Given the description of an element on the screen output the (x, y) to click on. 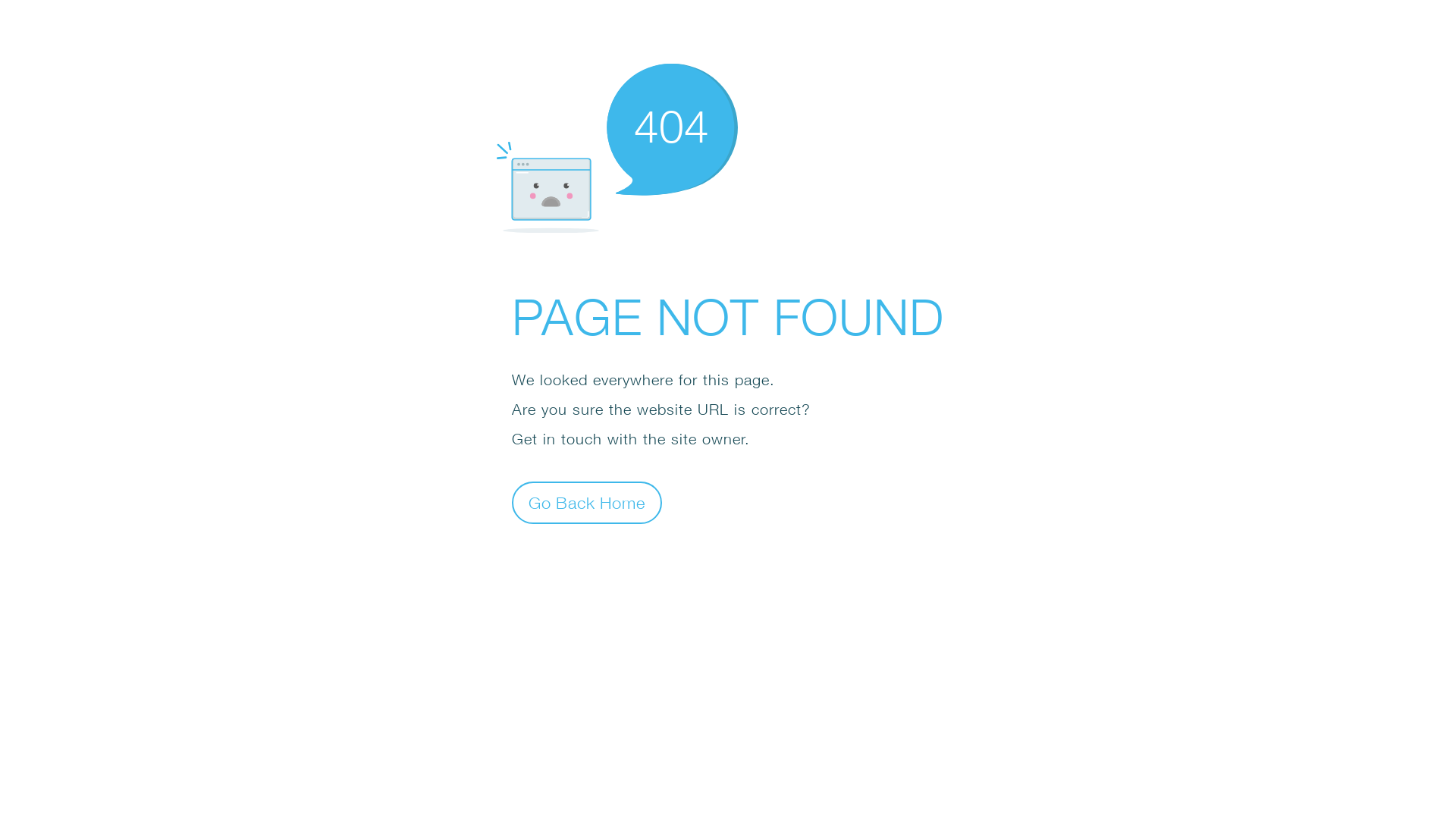
Go Back Home Element type: text (586, 502)
